Given the description of an element on the screen output the (x, y) to click on. 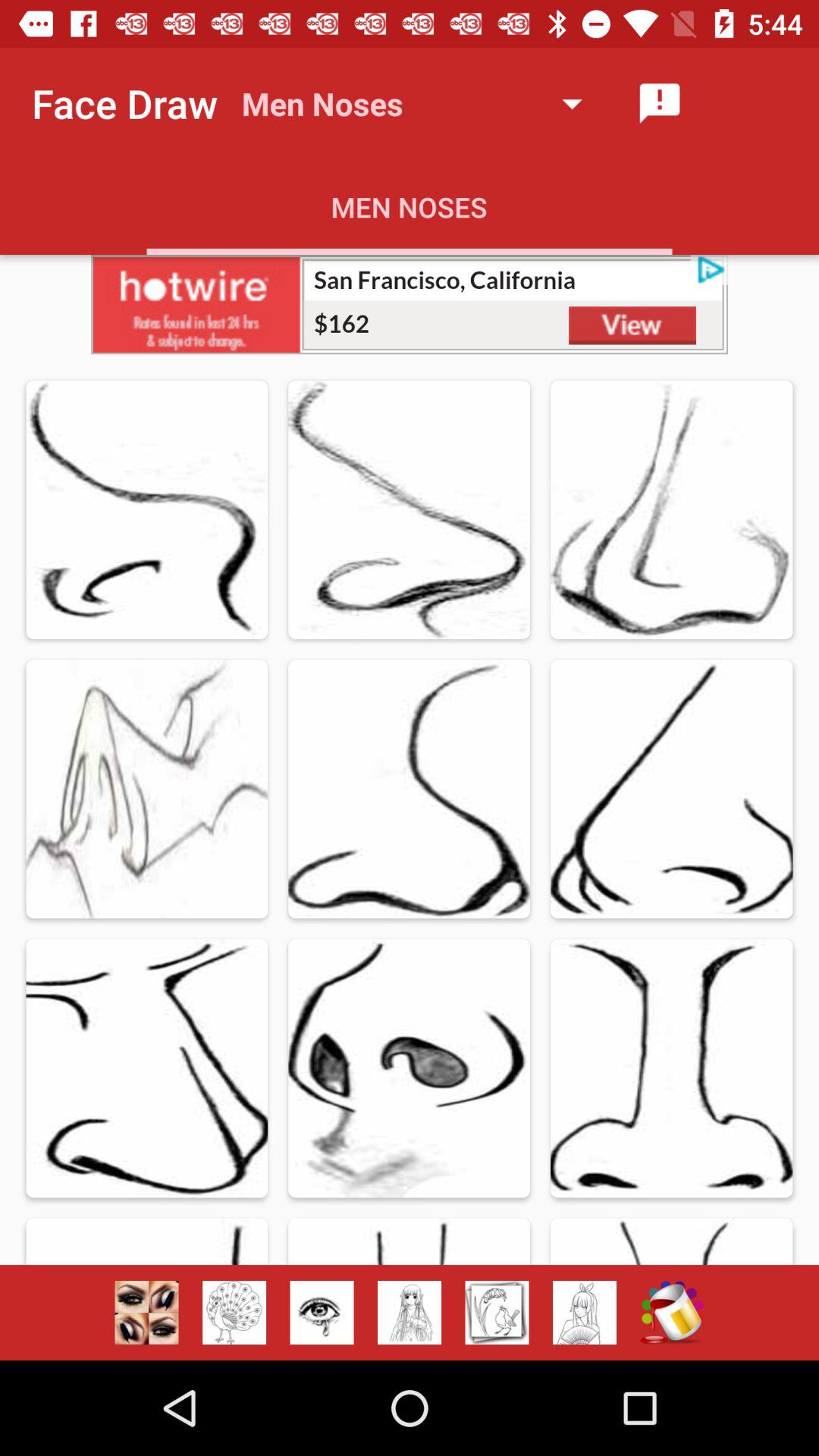
color button (672, 1312)
